Given the description of an element on the screen output the (x, y) to click on. 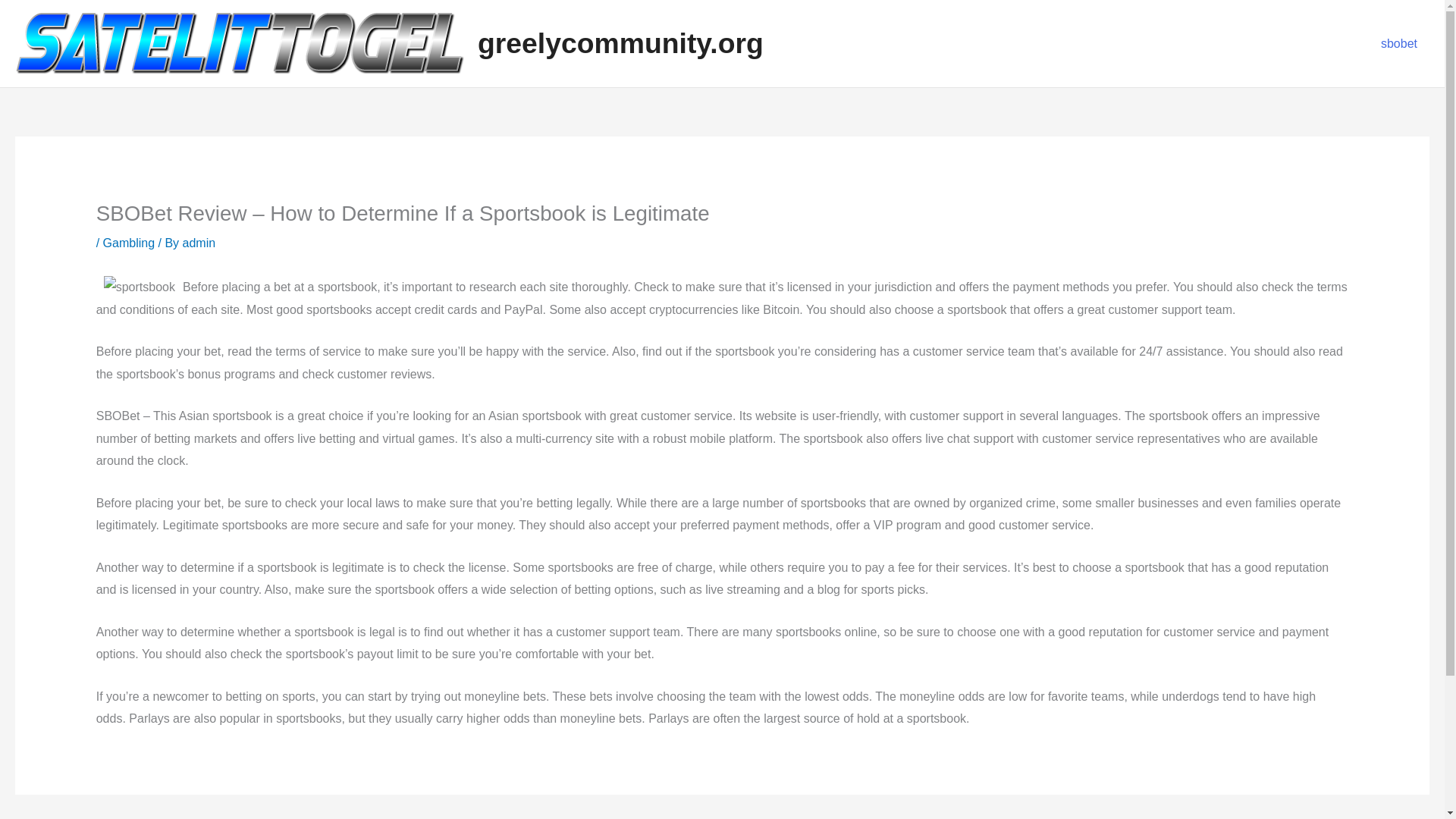
admin (199, 242)
Gambling (128, 242)
sbobet (1398, 43)
View all posts by admin (199, 242)
greelycommunity.org (619, 42)
